Given the description of an element on the screen output the (x, y) to click on. 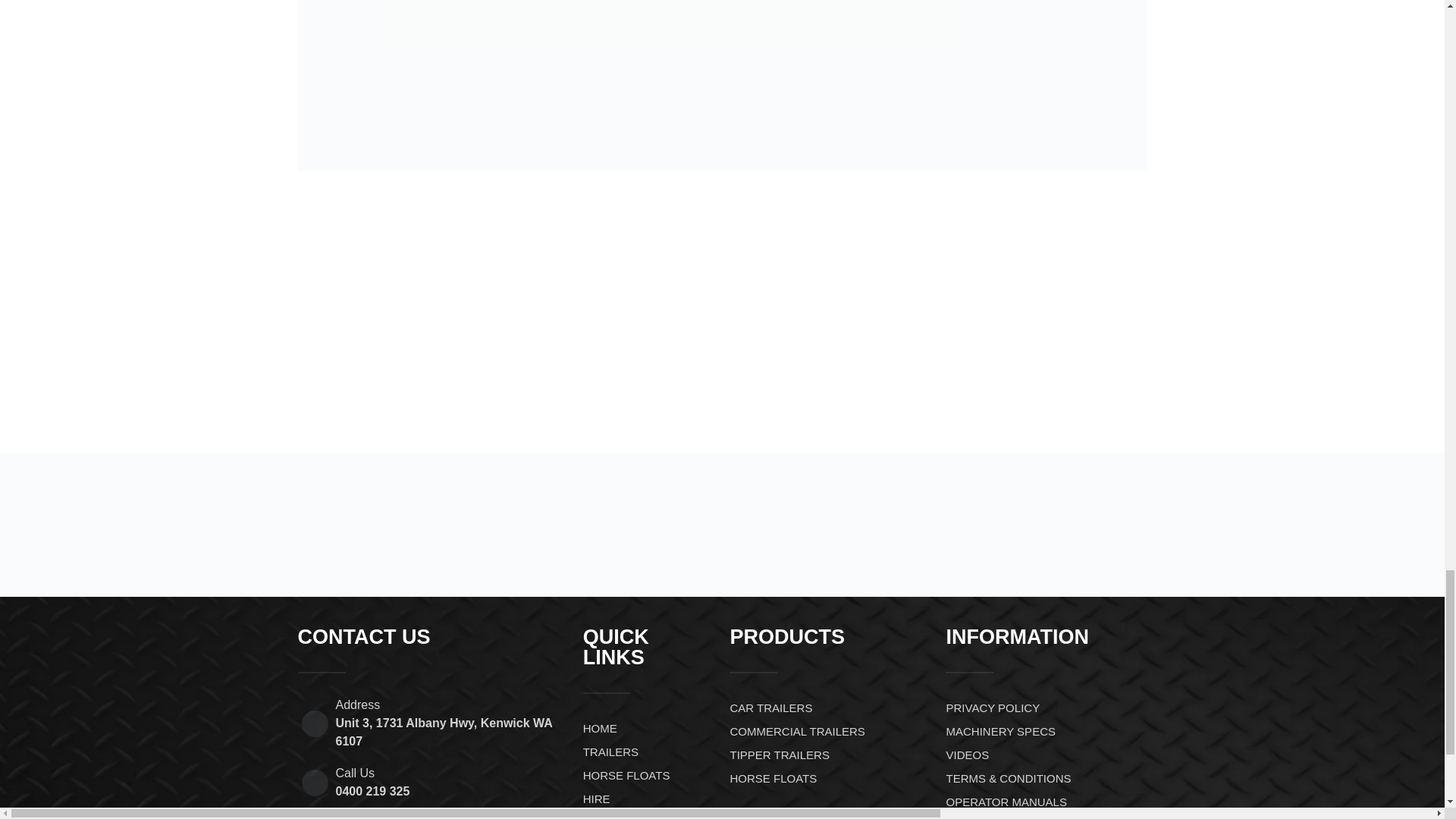
HOME (648, 728)
TRAILERS (648, 751)
